Given the description of an element on the screen output the (x, y) to click on. 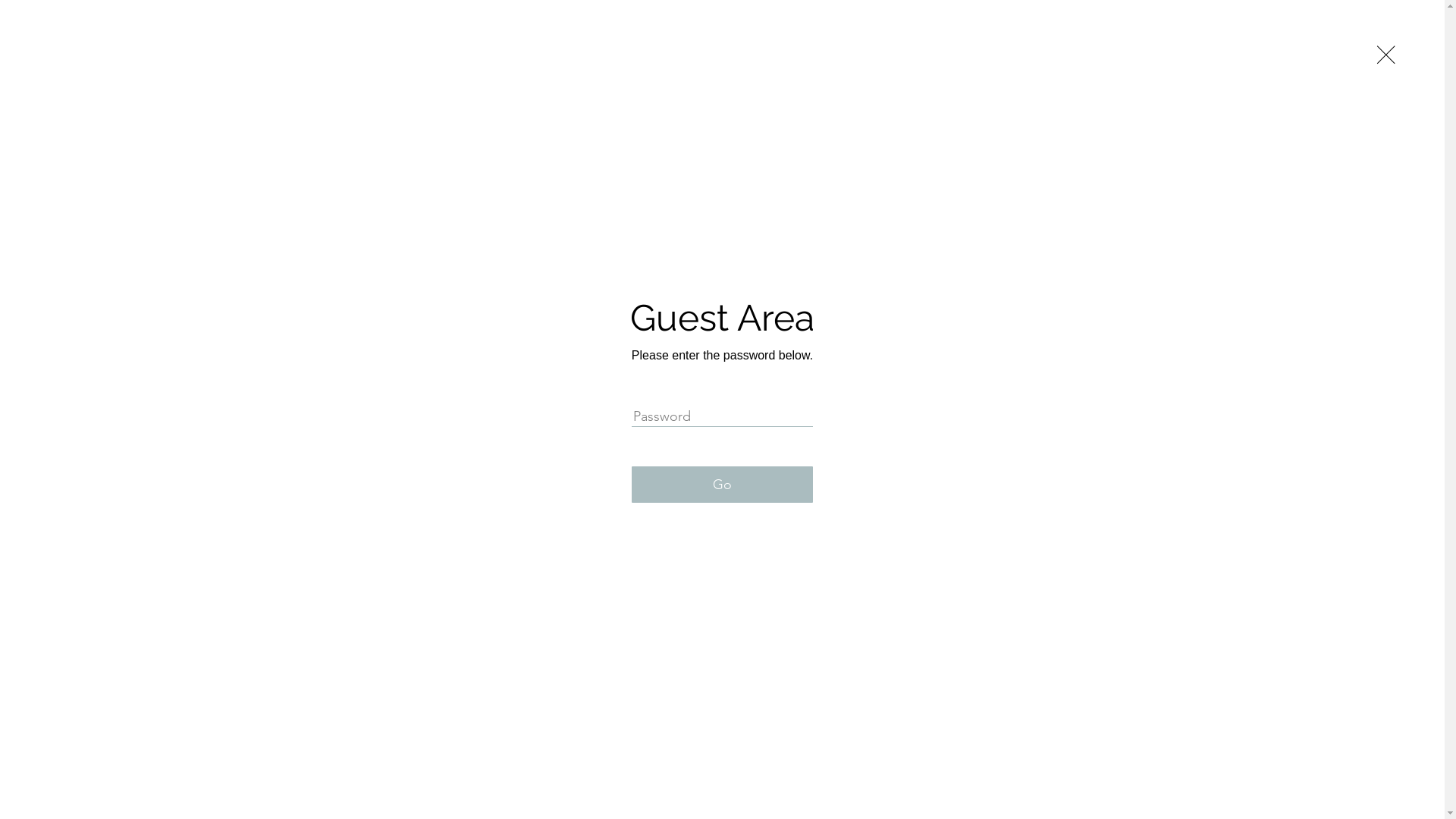
Go Element type: text (721, 484)
